Given the description of an element on the screen output the (x, y) to click on. 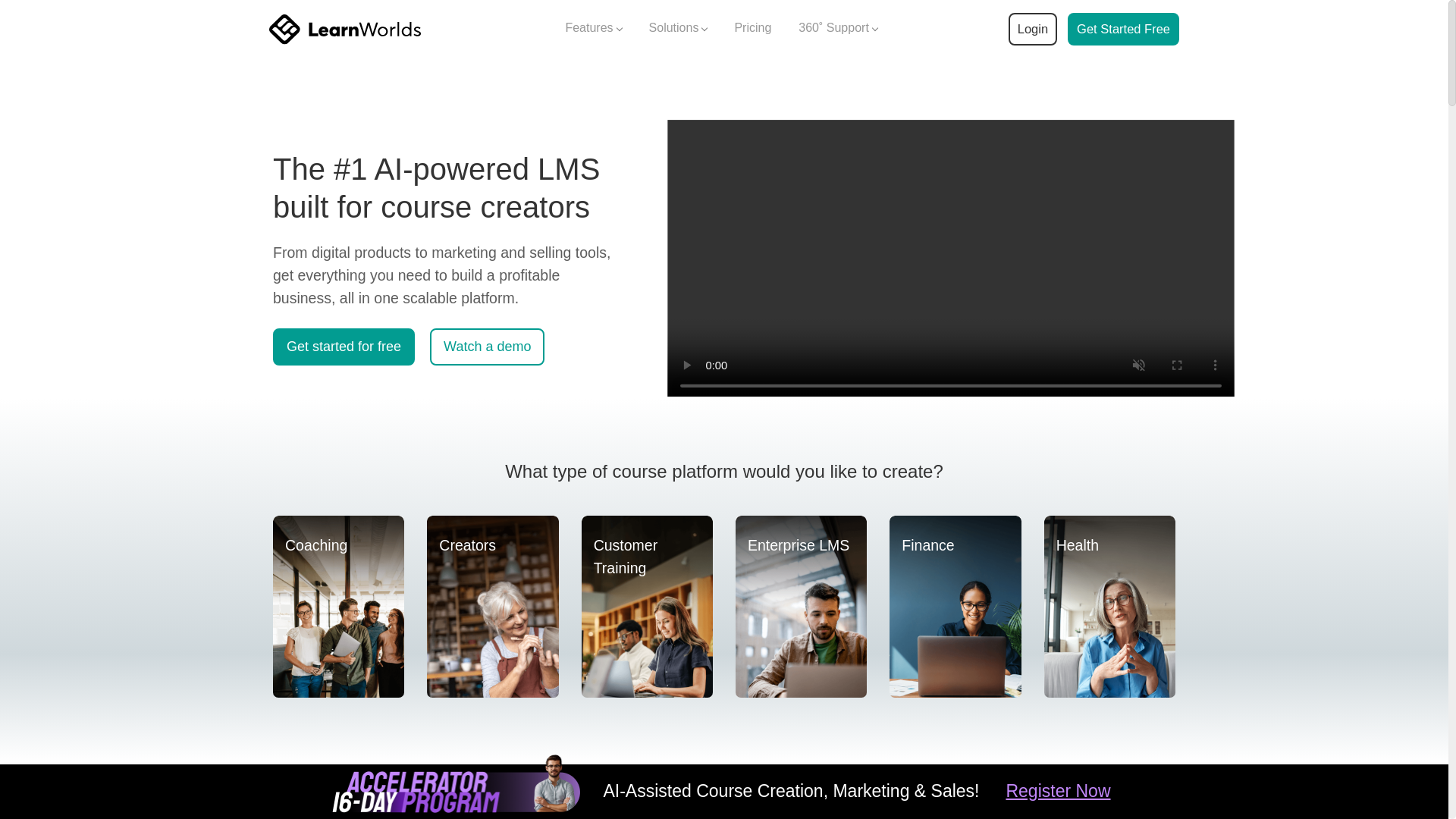
Start your demo with LearnWorlds (1123, 29)
LearnWorlds home (344, 28)
Login to your LearnWorlds account (1032, 29)
Features (592, 29)
